Given the description of an element on the screen output the (x, y) to click on. 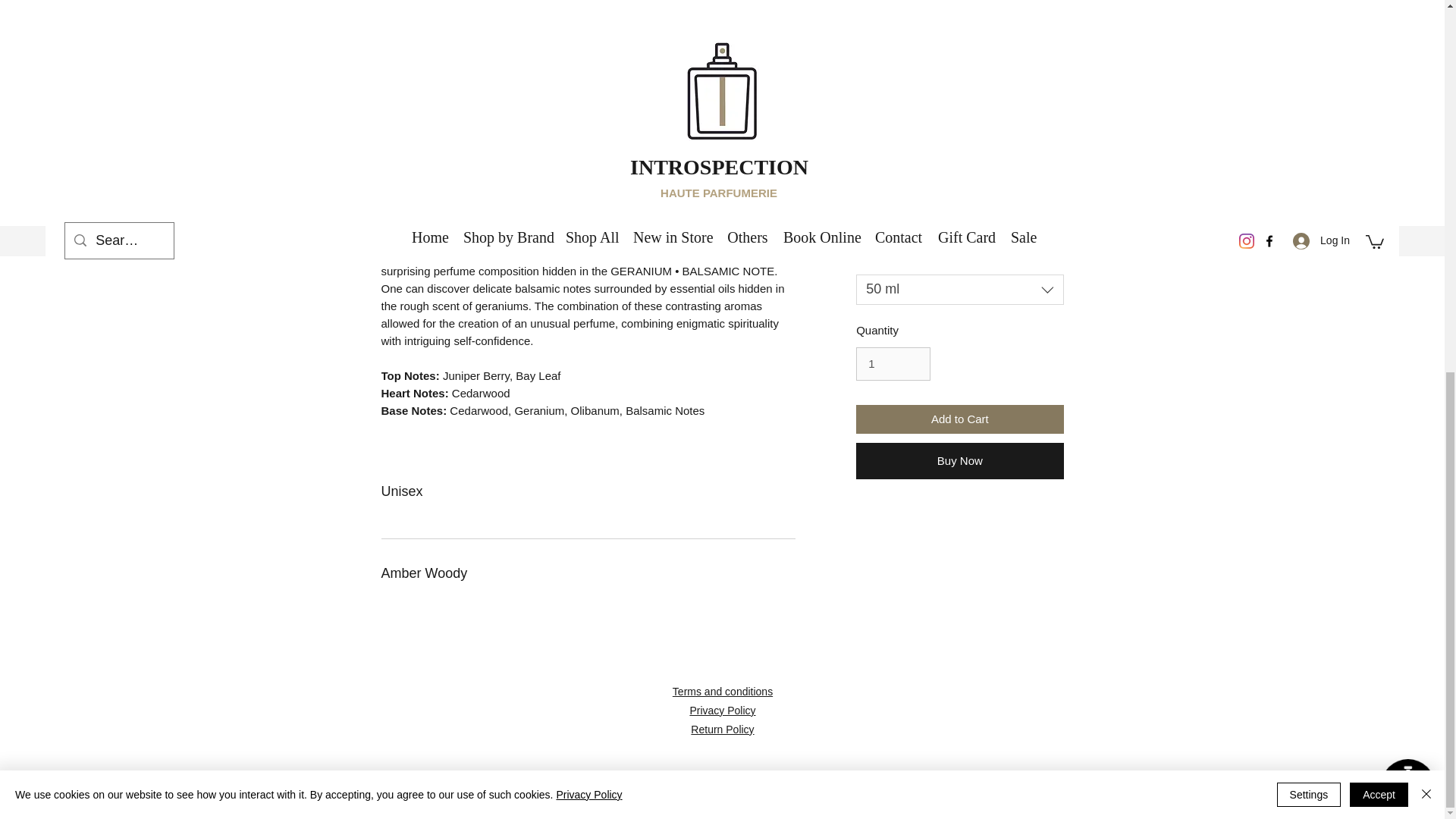
Buy Now (959, 461)
1 (893, 363)
Privacy Policy (721, 710)
Terms and conditions (722, 691)
Add to Cart (959, 419)
Settings (1308, 115)
Return Policy (722, 729)
Privacy Policy (588, 114)
50 ml (959, 289)
Accept (1378, 115)
